Given the description of an element on the screen output the (x, y) to click on. 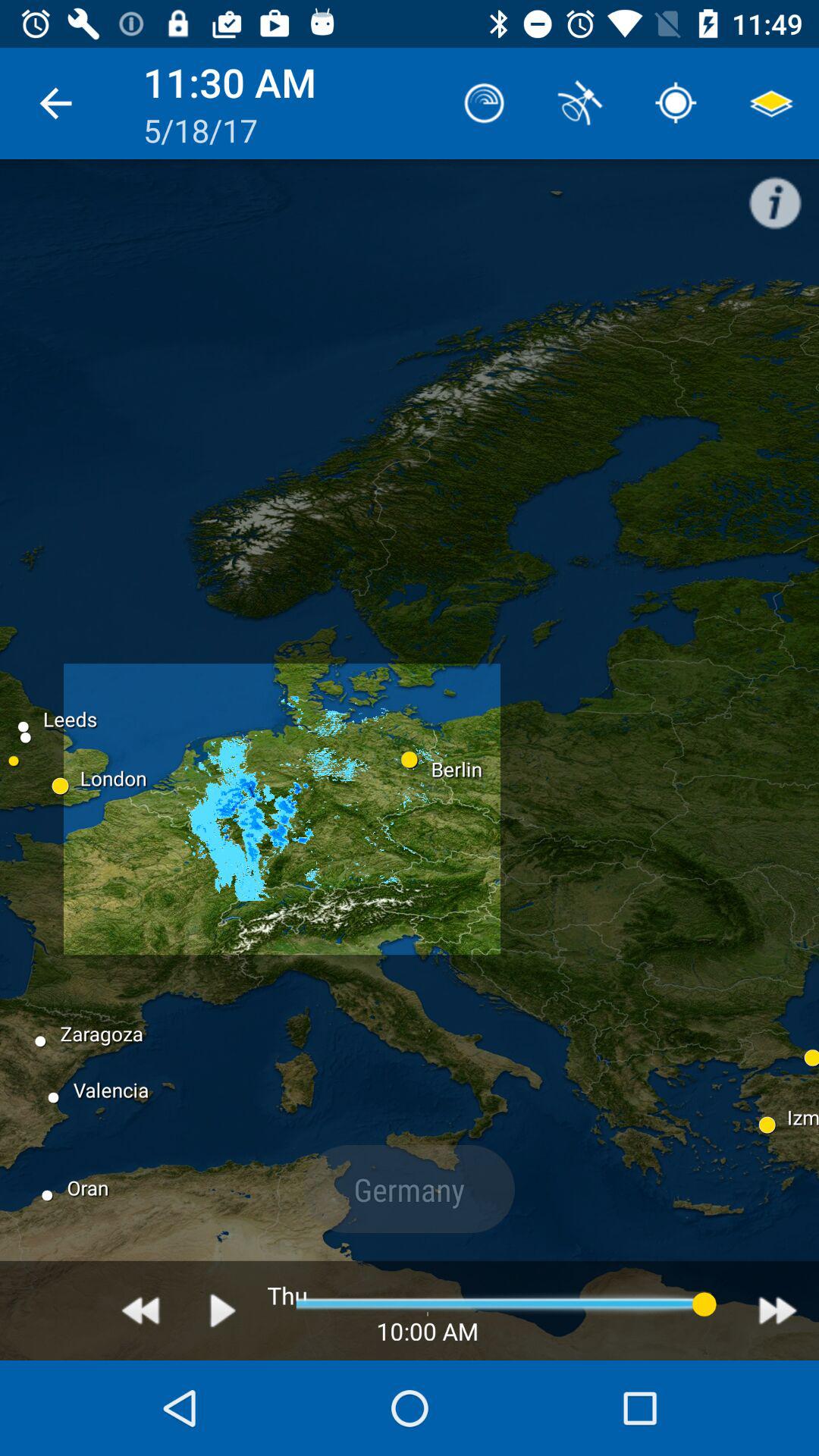
click icon at the top (484, 103)
